Given the description of an element on the screen output the (x, y) to click on. 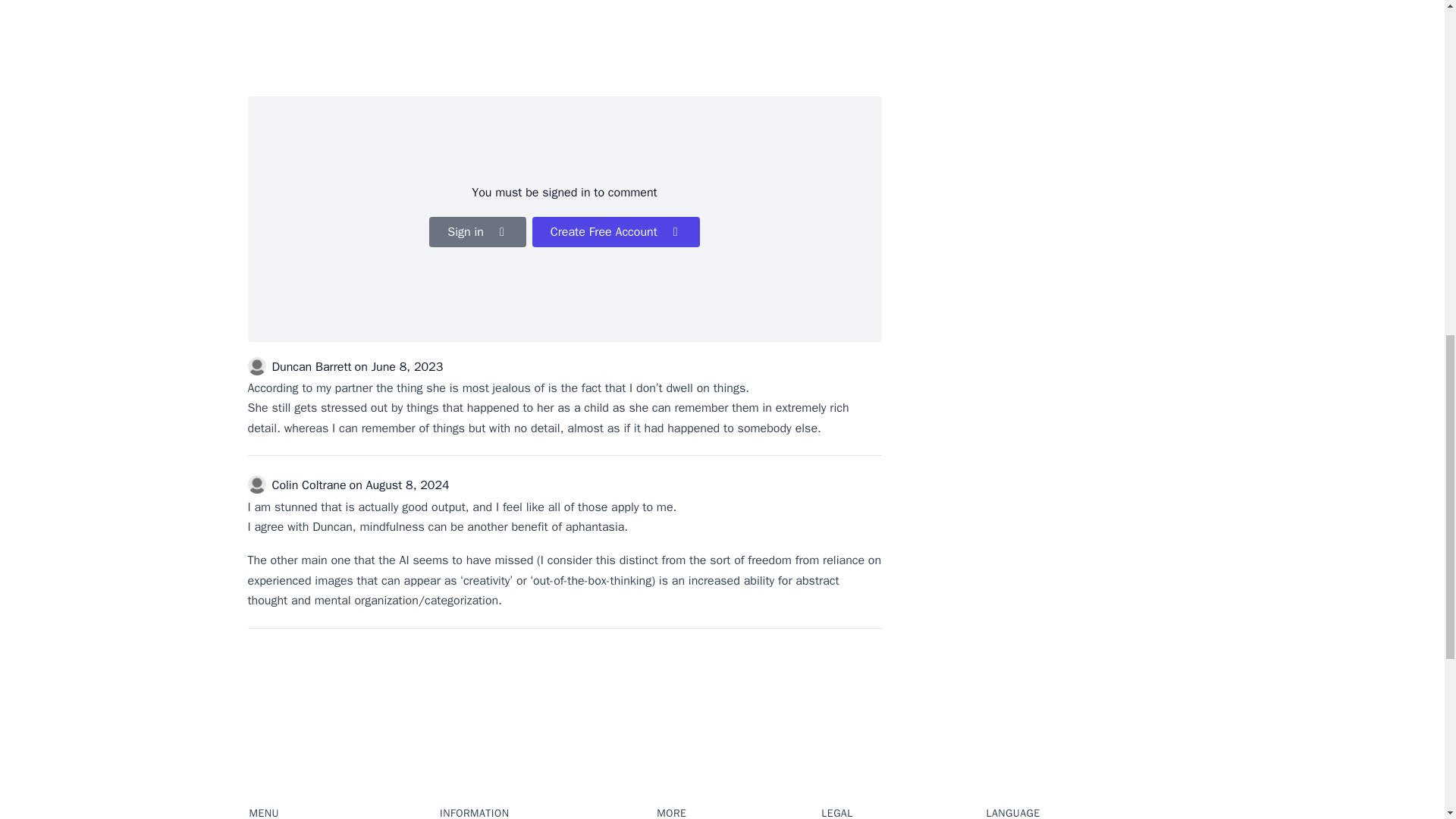
Duncan Barrett (310, 366)
Create Free Account (616, 232)
Advertisement (563, 46)
Sign in (477, 232)
